Given the description of an element on the screen output the (x, y) to click on. 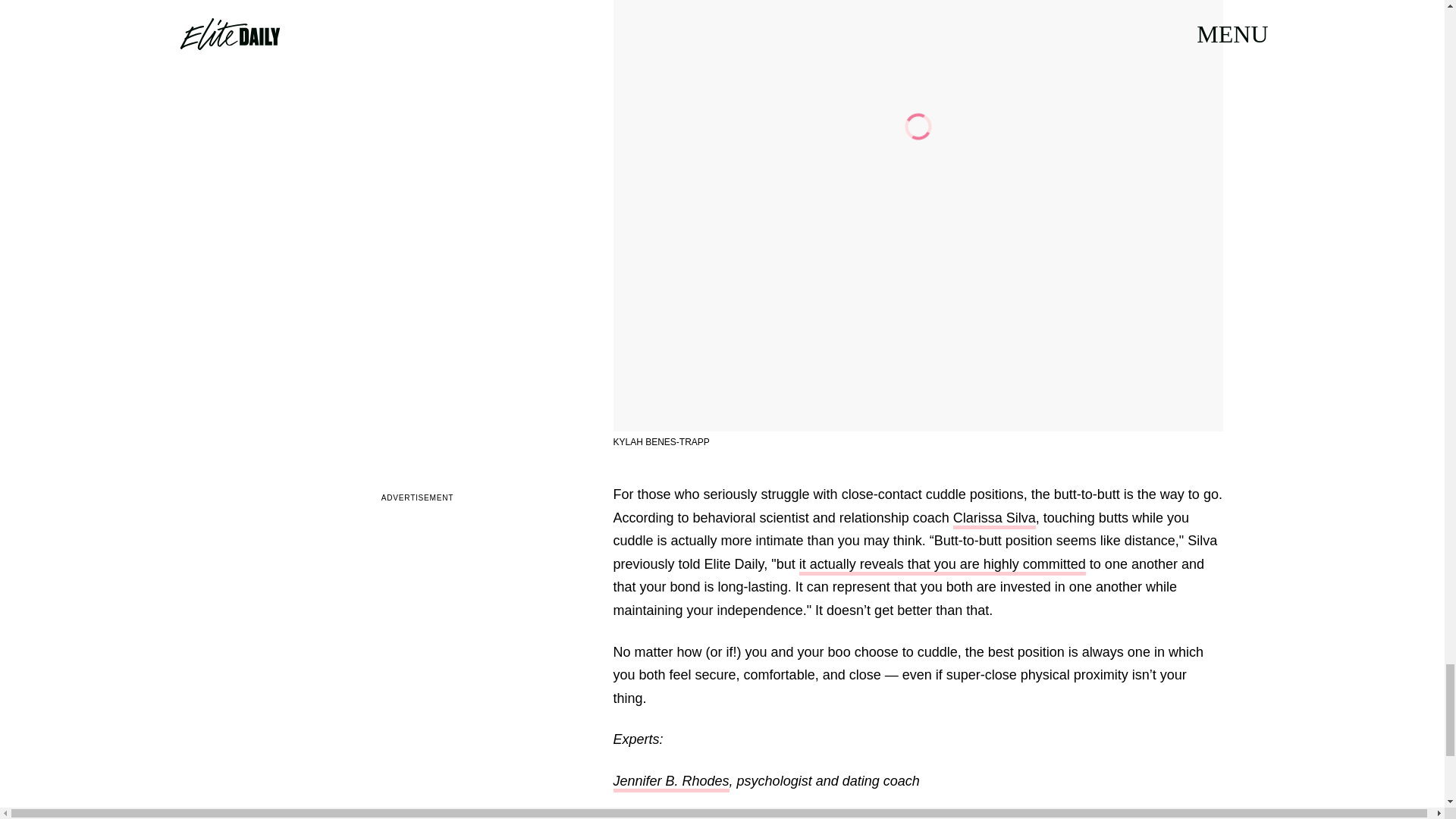
Clarissa Silva (994, 519)
Jennifer B. Rhodes (670, 782)
Tonya Reiman (656, 816)
it actually reveals that you are highly committed (942, 565)
